Given the description of an element on the screen output the (x, y) to click on. 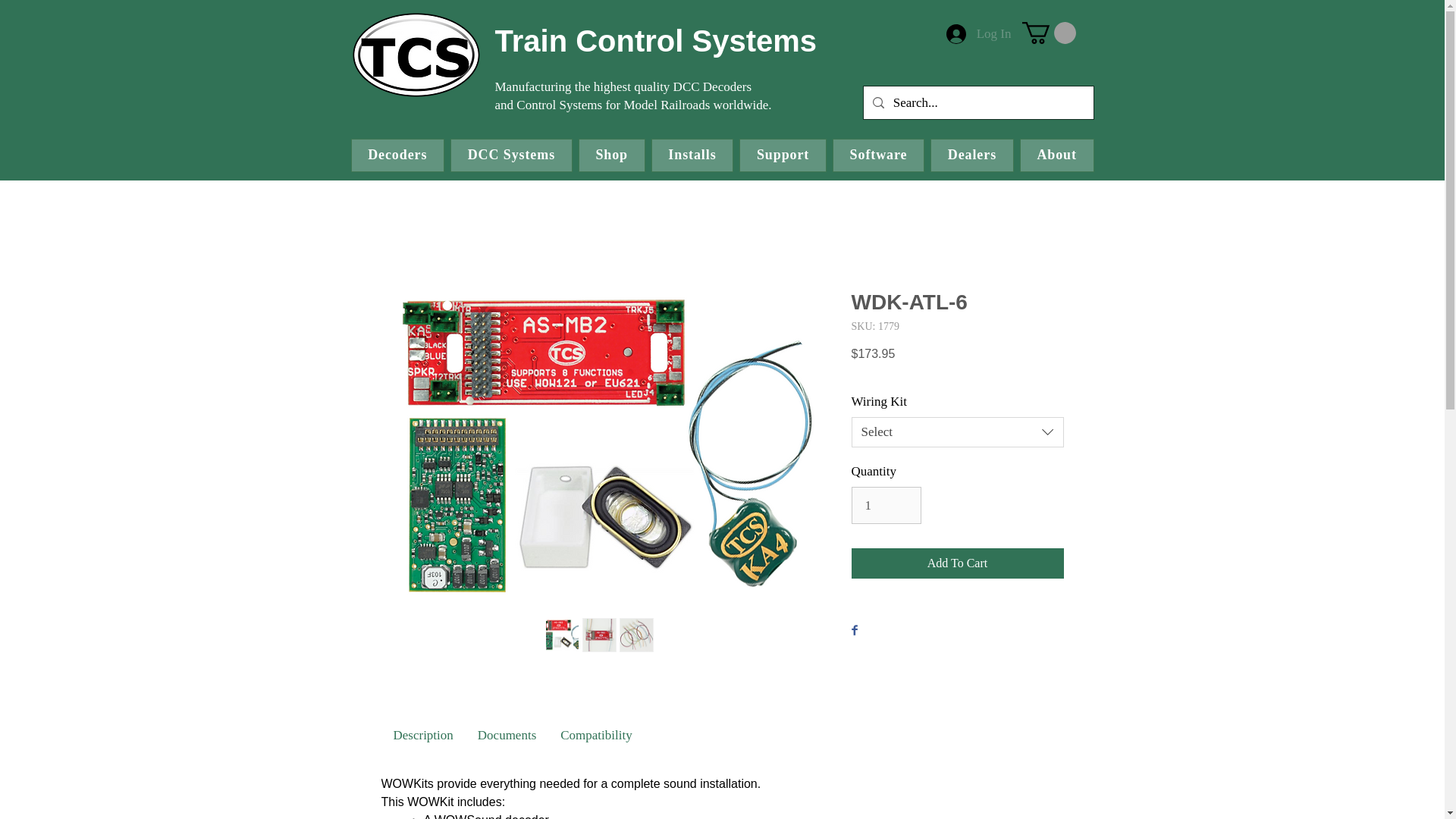
Use right and left arrows to navigate between tabs (596, 735)
Log In (979, 33)
1 (885, 505)
Use right and left arrows to navigate between tabs (507, 735)
Use right and left arrows to navigate between tabs (422, 735)
